Given the description of an element on the screen output the (x, y) to click on. 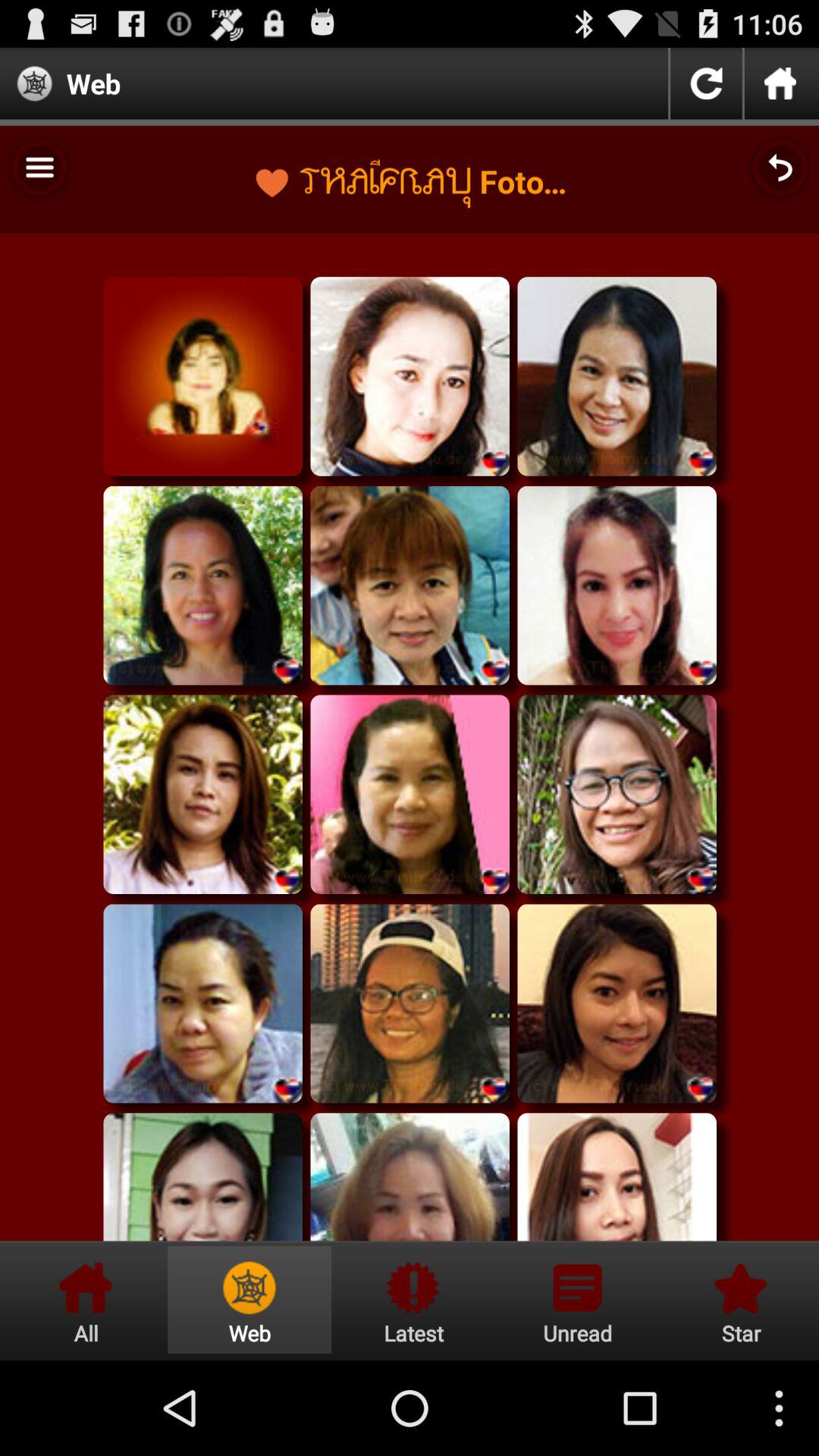
go unread msg (577, 1299)
